Given the description of an element on the screen output the (x, y) to click on. 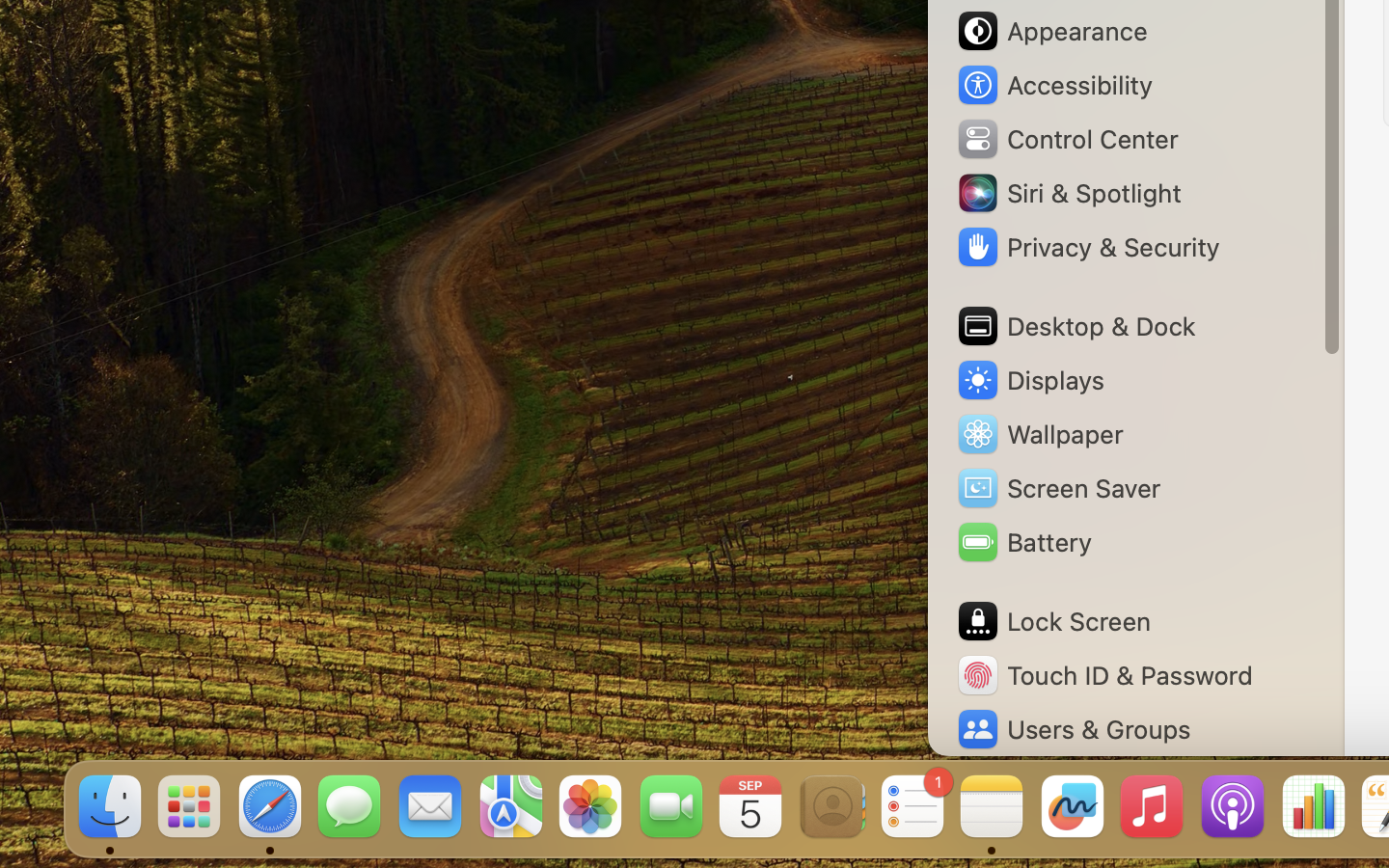
Wallpaper Element type: AXStaticText (1038, 433)
Lock Screen Element type: AXStaticText (1052, 620)
Battery Element type: AXStaticText (1022, 541)
Screen Saver Element type: AXStaticText (1057, 487)
Touch ID & Password Element type: AXStaticText (1103, 674)
